Given the description of an element on the screen output the (x, y) to click on. 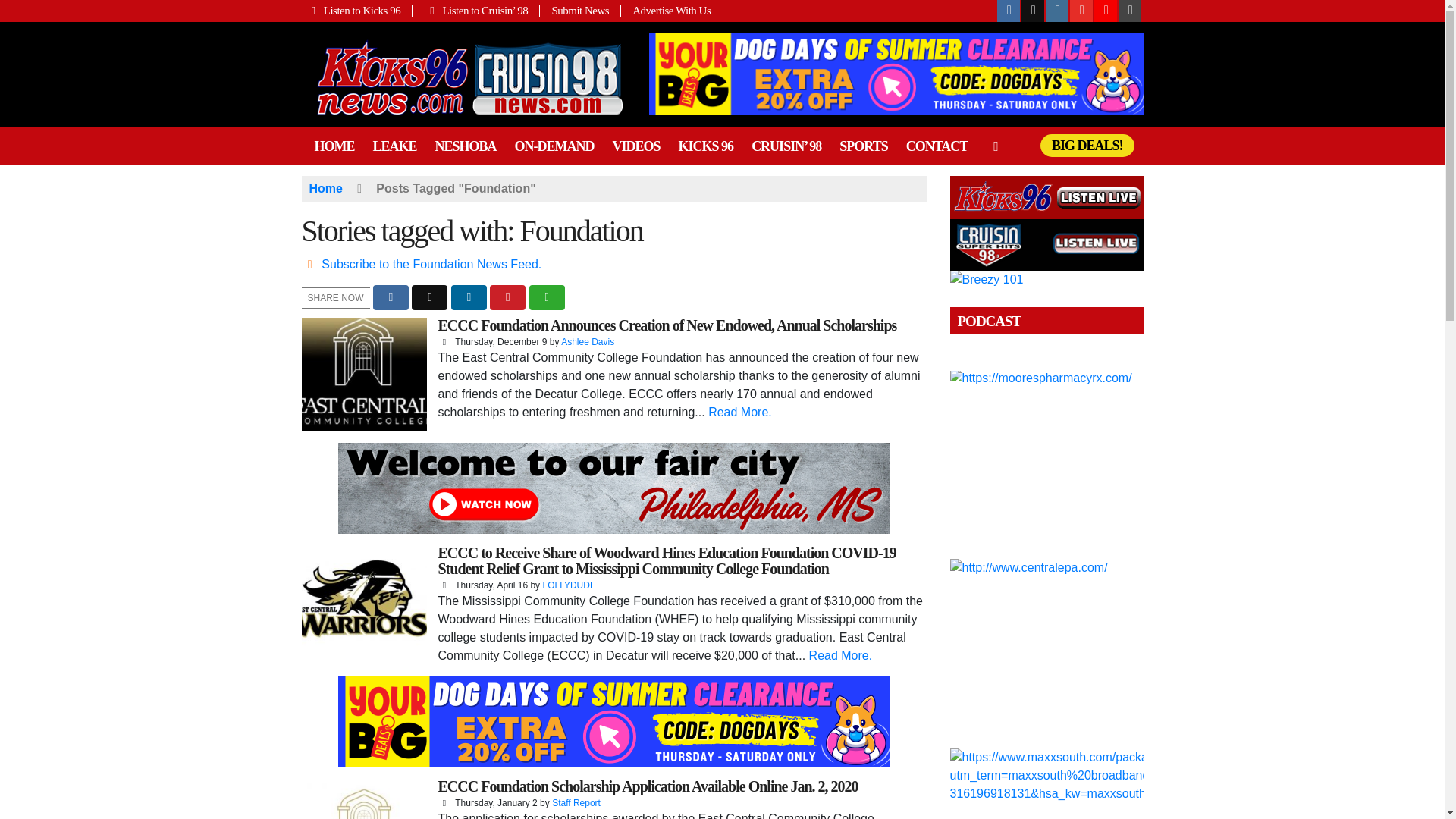
Get our iOS App (1129, 11)
Follow us on Soundcloud (1105, 11)
Submit News (580, 10)
Advertise With Us (665, 10)
Listen to Kicks 96 (357, 10)
Follow us on Instagram (1056, 11)
Follow us on X (1032, 11)
Follow us on Youtube (1081, 11)
Follow us on Facebook (1008, 11)
